Given the description of an element on the screen output the (x, y) to click on. 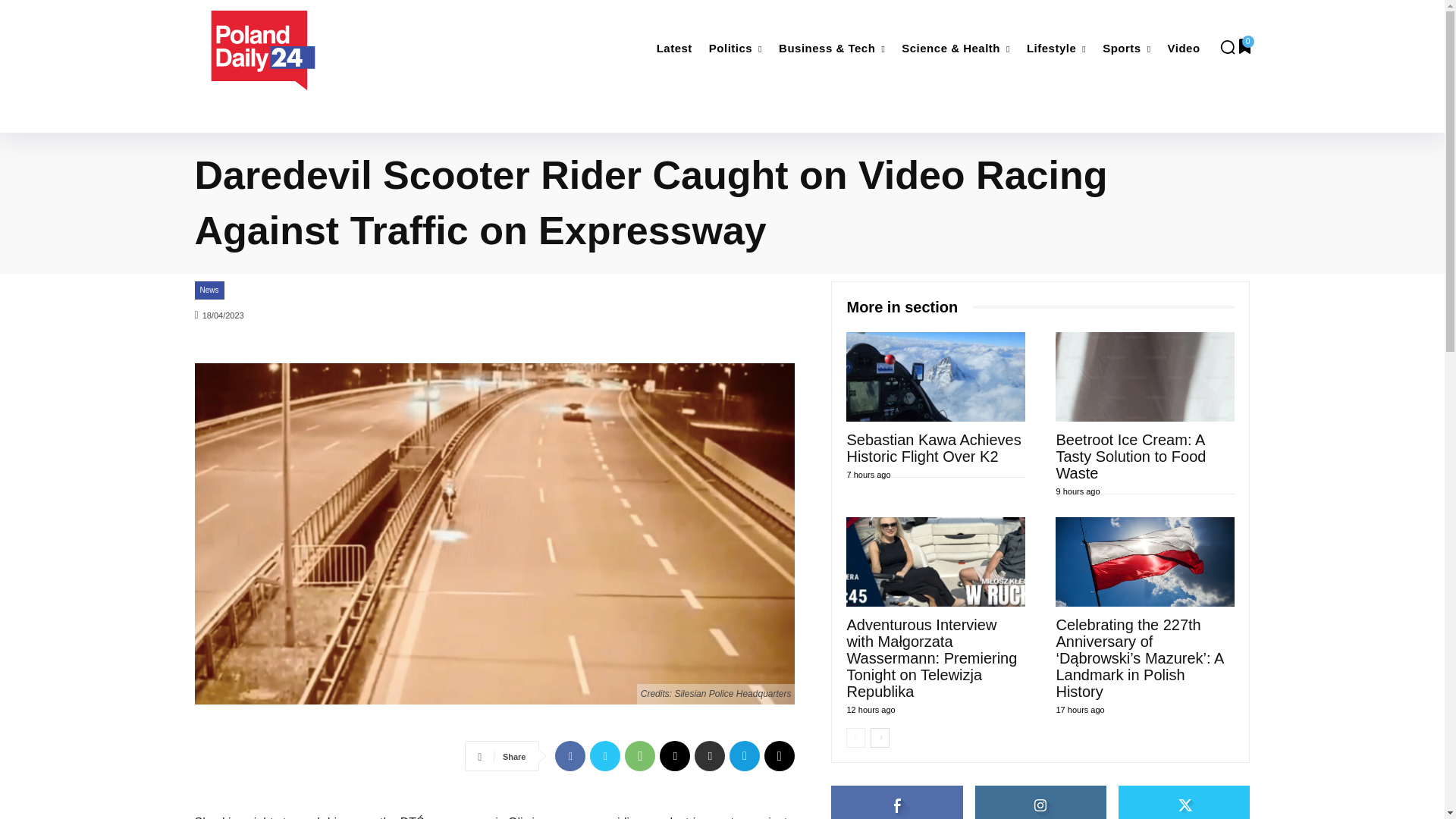
Politics (735, 48)
